Given the description of an element on the screen output the (x, y) to click on. 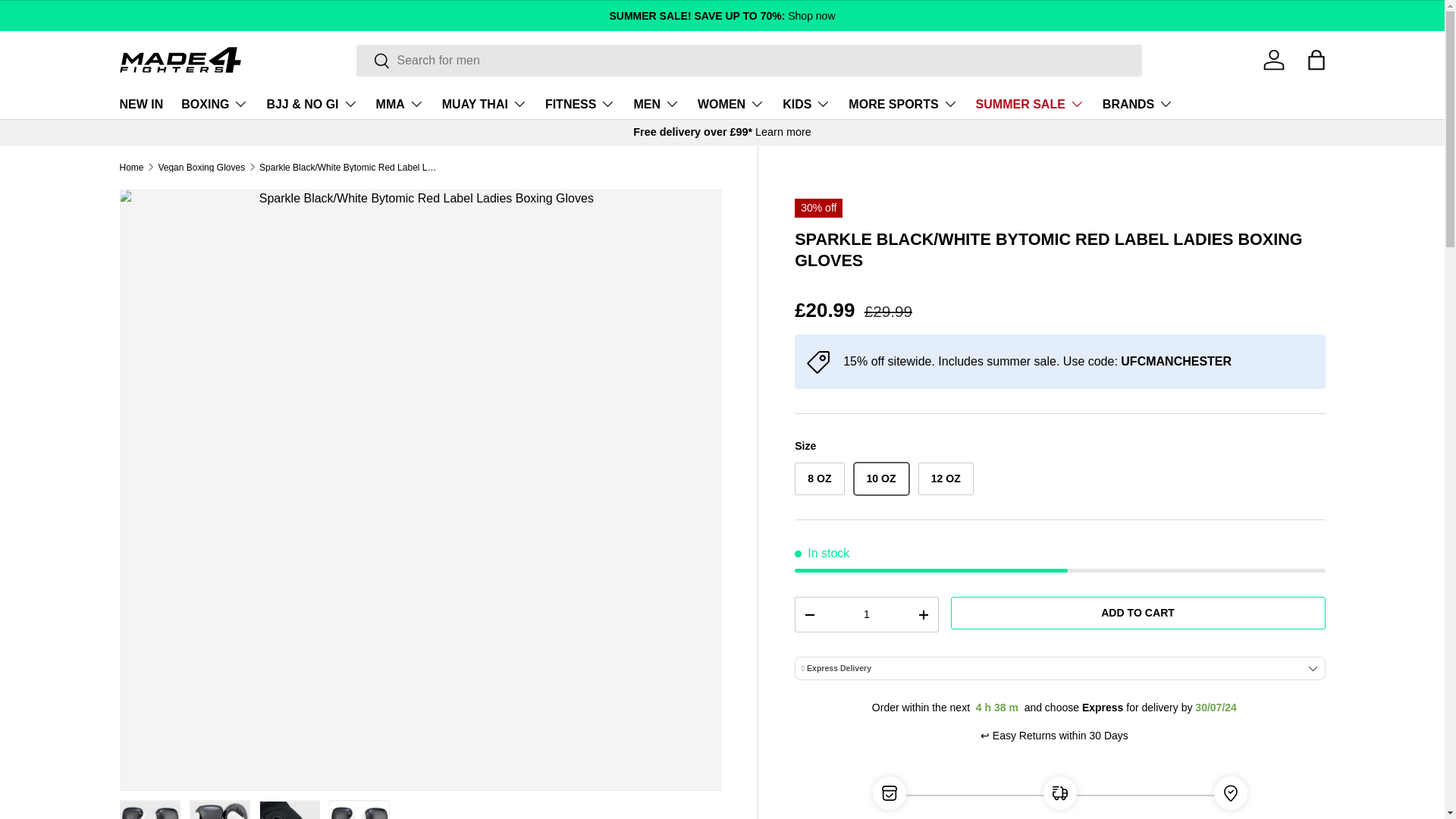
United Kingdom (782, 132)
NEW IN (141, 103)
Log in (1273, 59)
BOXING (213, 103)
Search (373, 61)
1 (866, 613)
Bag (1316, 59)
Outlet (721, 15)
SKIP TO CONTENT (68, 21)
